Given the description of an element on the screen output the (x, y) to click on. 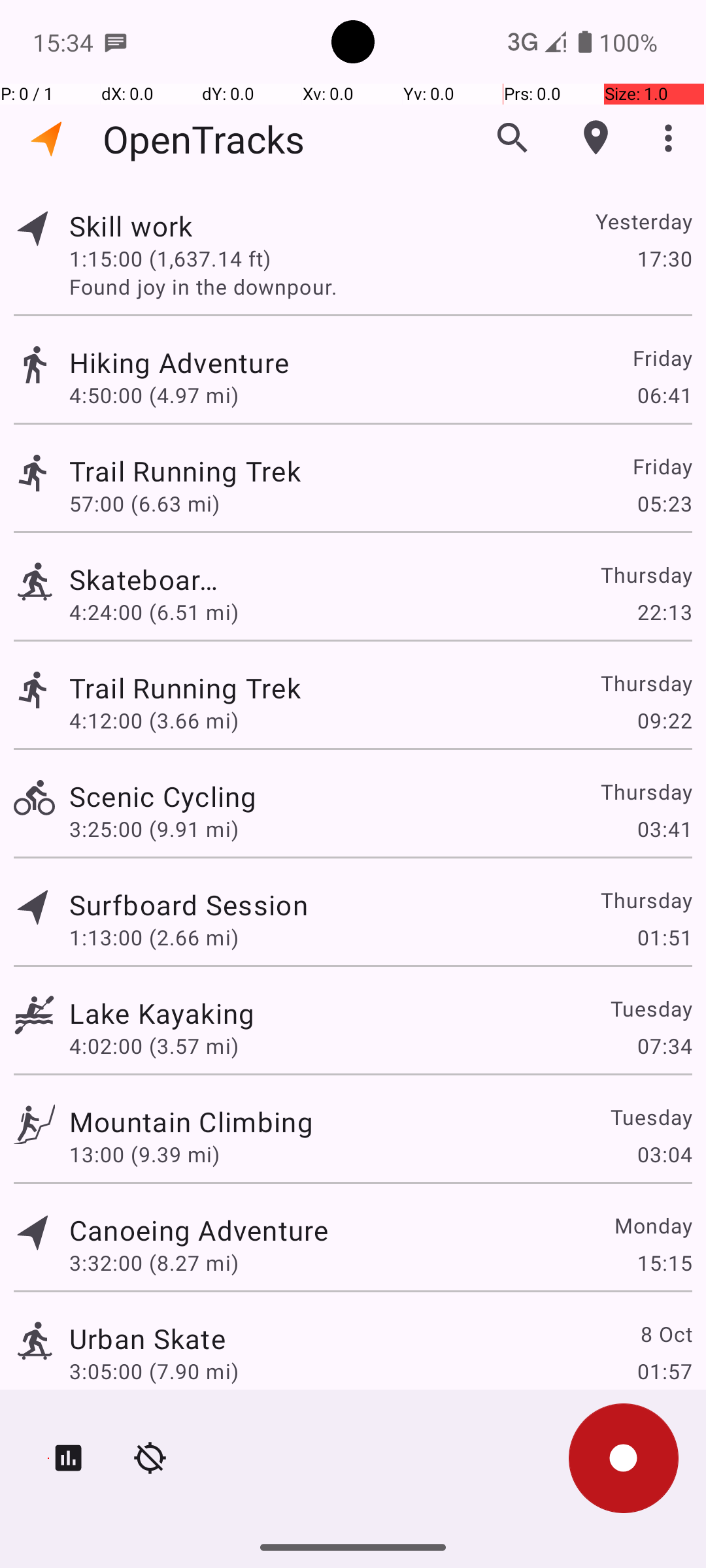
Skill work Element type: android.widget.TextView (161, 225)
1:15:00 (1,637.14 ft) Element type: android.widget.TextView (169, 258)
17:30 Element type: android.widget.TextView (664, 258)
Found joy in the downpour. Element type: android.widget.TextView (380, 286)
Hiking Adventure Element type: android.widget.TextView (190, 361)
4:50:00 (4.97 mi) Element type: android.widget.TextView (153, 394)
06:41 Element type: android.widget.TextView (664, 394)
Trail Running Trek Element type: android.widget.TextView (198, 470)
57:00 (6.63 mi) Element type: android.widget.TextView (153, 503)
05:23 Element type: android.widget.TextView (664, 503)
Skateboard Exploration Element type: android.widget.TextView (147, 578)
4:24:00 (6.51 mi) Element type: android.widget.TextView (153, 611)
22:13 Element type: android.widget.TextView (664, 611)
4:12:00 (3.66 mi) Element type: android.widget.TextView (169, 720)
09:22 Element type: android.widget.TextView (664, 720)
Scenic Cycling Element type: android.widget.TextView (162, 795)
3:25:00 (9.91 mi) Element type: android.widget.TextView (153, 828)
03:41 Element type: android.widget.TextView (664, 828)
Surfboard Session Element type: android.widget.TextView (188, 904)
1:13:00 (2.66 mi) Element type: android.widget.TextView (153, 937)
01:51 Element type: android.widget.TextView (664, 937)
Lake Kayaking Element type: android.widget.TextView (161, 1012)
4:02:00 (3.57 mi) Element type: android.widget.TextView (153, 1045)
07:34 Element type: android.widget.TextView (664, 1045)
Mountain Climbing Element type: android.widget.TextView (190, 1121)
13:00 (9.39 mi) Element type: android.widget.TextView (144, 1154)
03:04 Element type: android.widget.TextView (664, 1154)
Canoeing Adventure Element type: android.widget.TextView (198, 1229)
3:32:00 (8.27 mi) Element type: android.widget.TextView (153, 1262)
15:15 Element type: android.widget.TextView (664, 1262)
Urban Skate Element type: android.widget.TextView (147, 1337)
8 Oct Element type: android.widget.TextView (665, 1333)
3:05:00 (7.90 mi) Element type: android.widget.TextView (153, 1370)
01:57 Element type: android.widget.TextView (664, 1370)
